Given the description of an element on the screen output the (x, y) to click on. 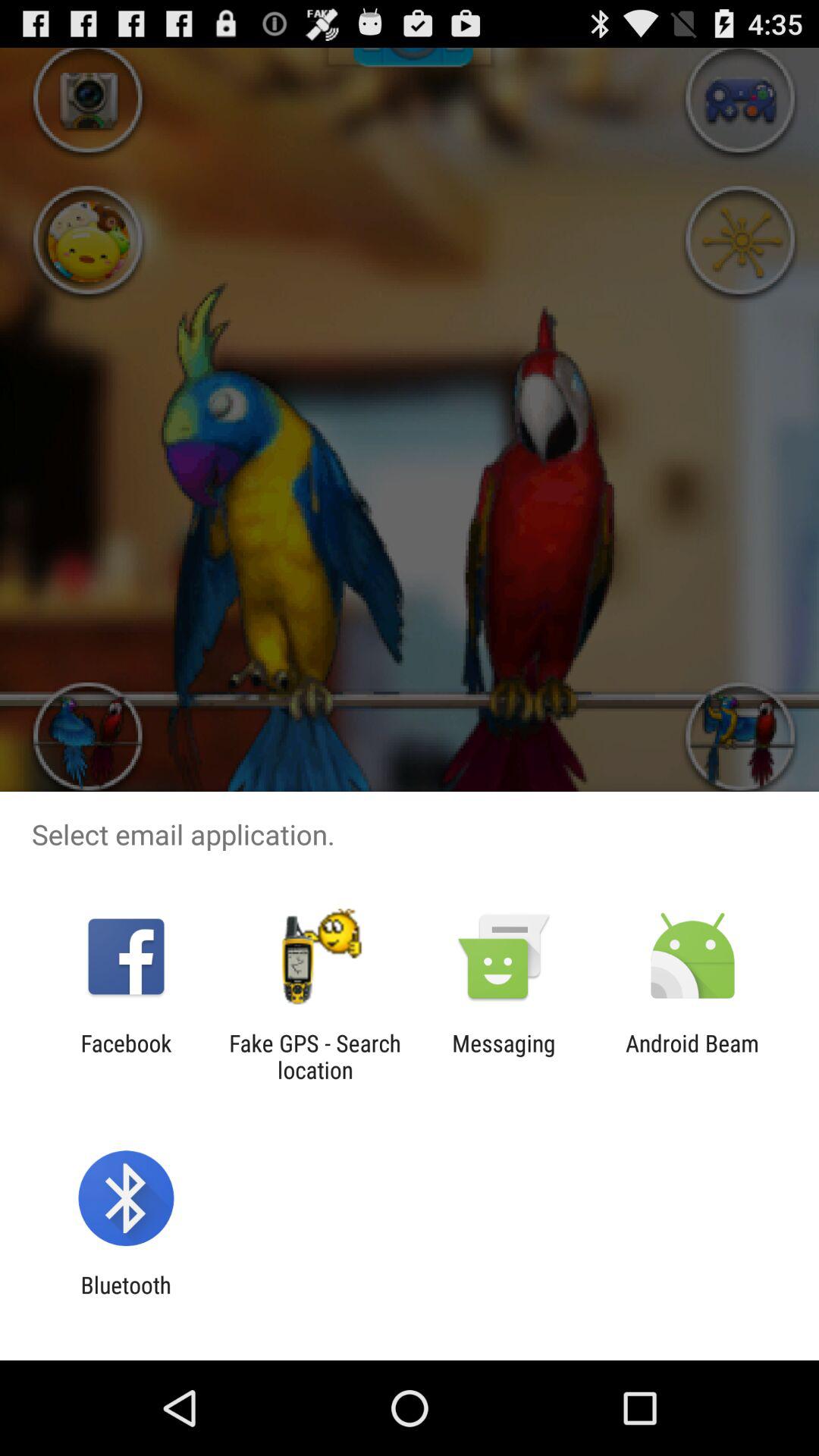
choose the icon next to fake gps search (503, 1056)
